Given the description of an element on the screen output the (x, y) to click on. 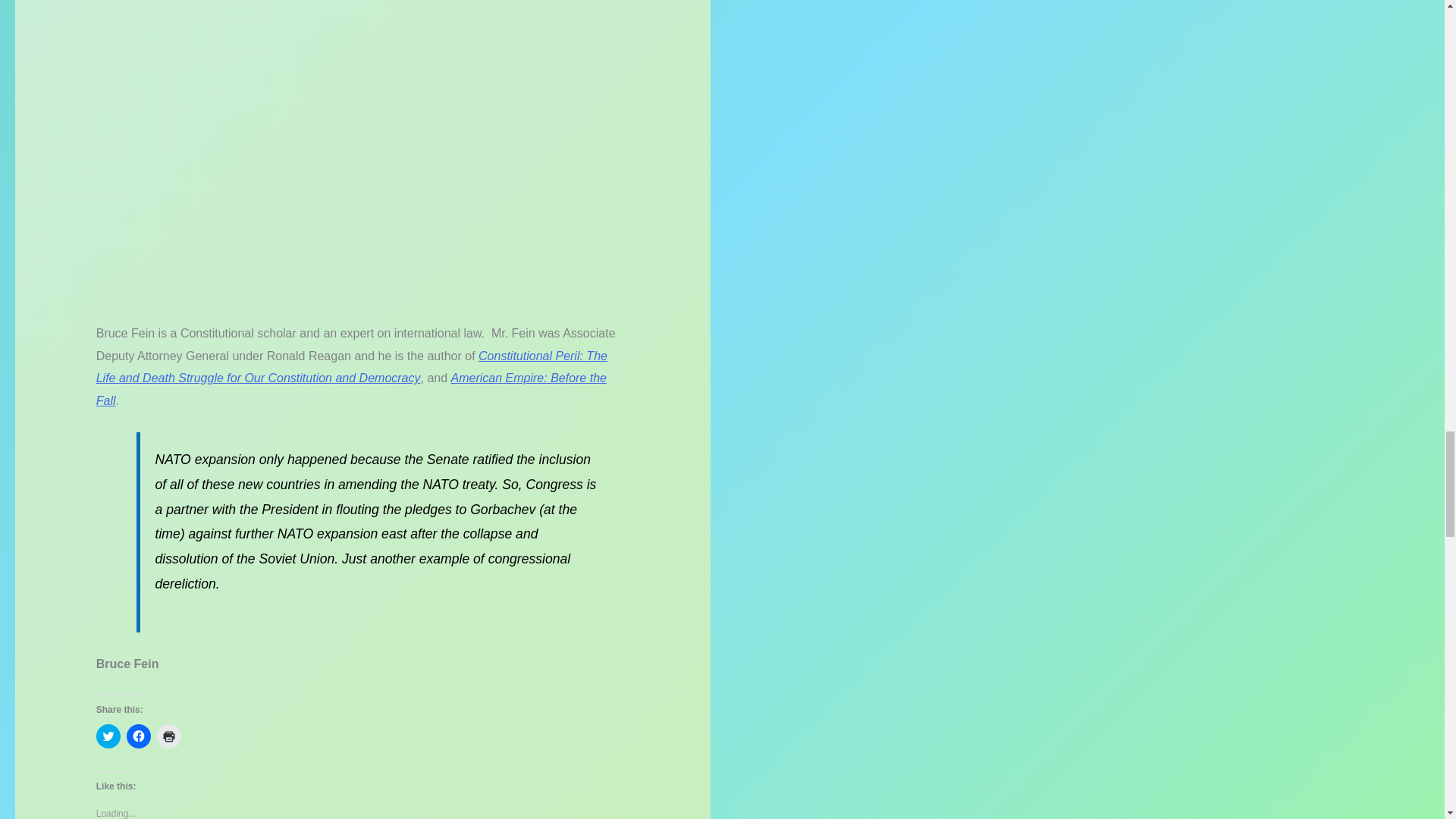
Click to share on Facebook (138, 735)
Click to print (168, 735)
Click to share on Twitter (108, 735)
